Given the description of an element on the screen output the (x, y) to click on. 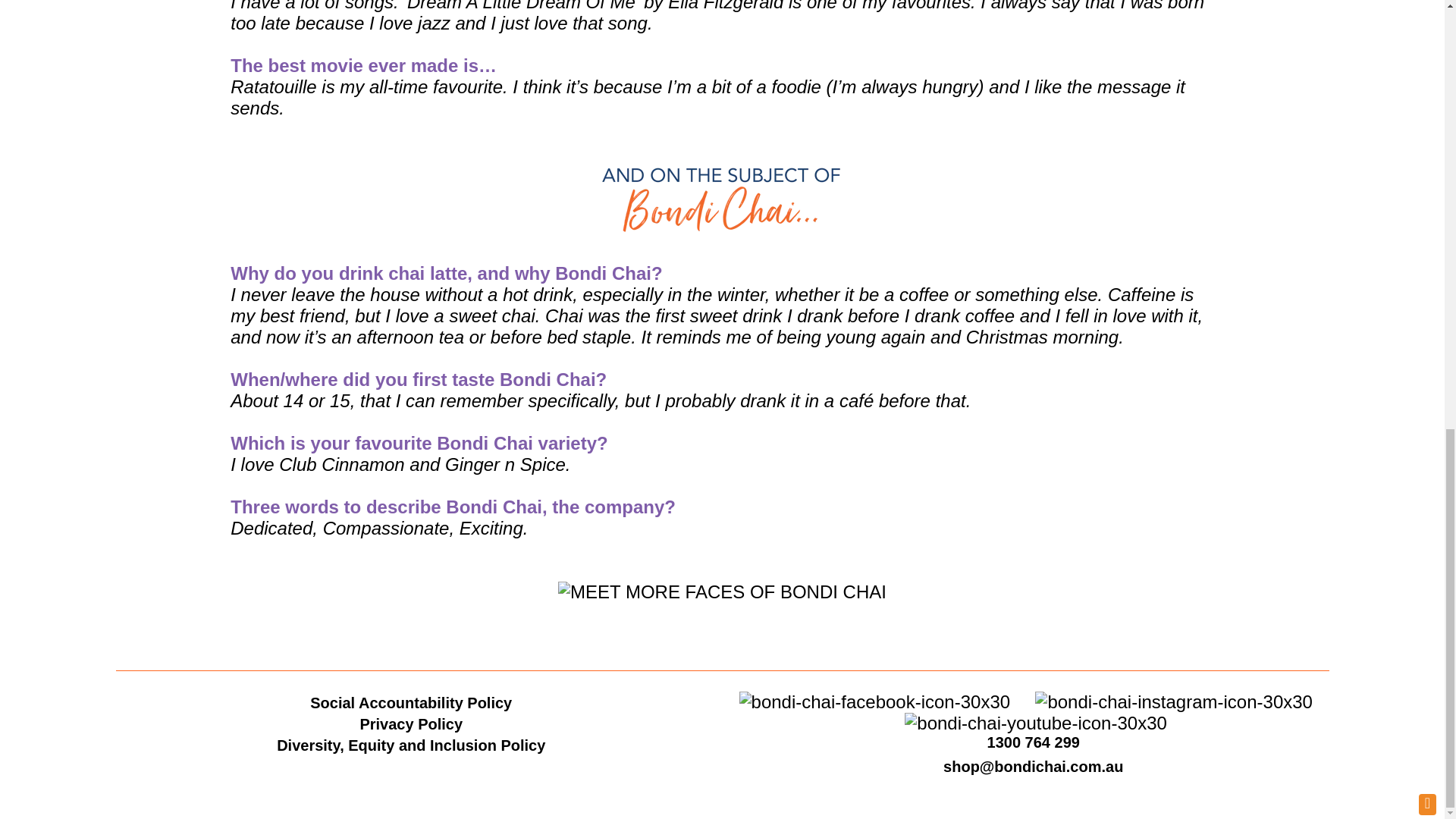
Social Accountability Policy (411, 702)
bondi-chai-faces-of-bondi-chai-on-the-subject-of-bondi-chai (721, 199)
Diversity, Equity and Inclusion Policy (410, 745)
Privacy Policy (411, 723)
